Given the description of an element on the screen output the (x, y) to click on. 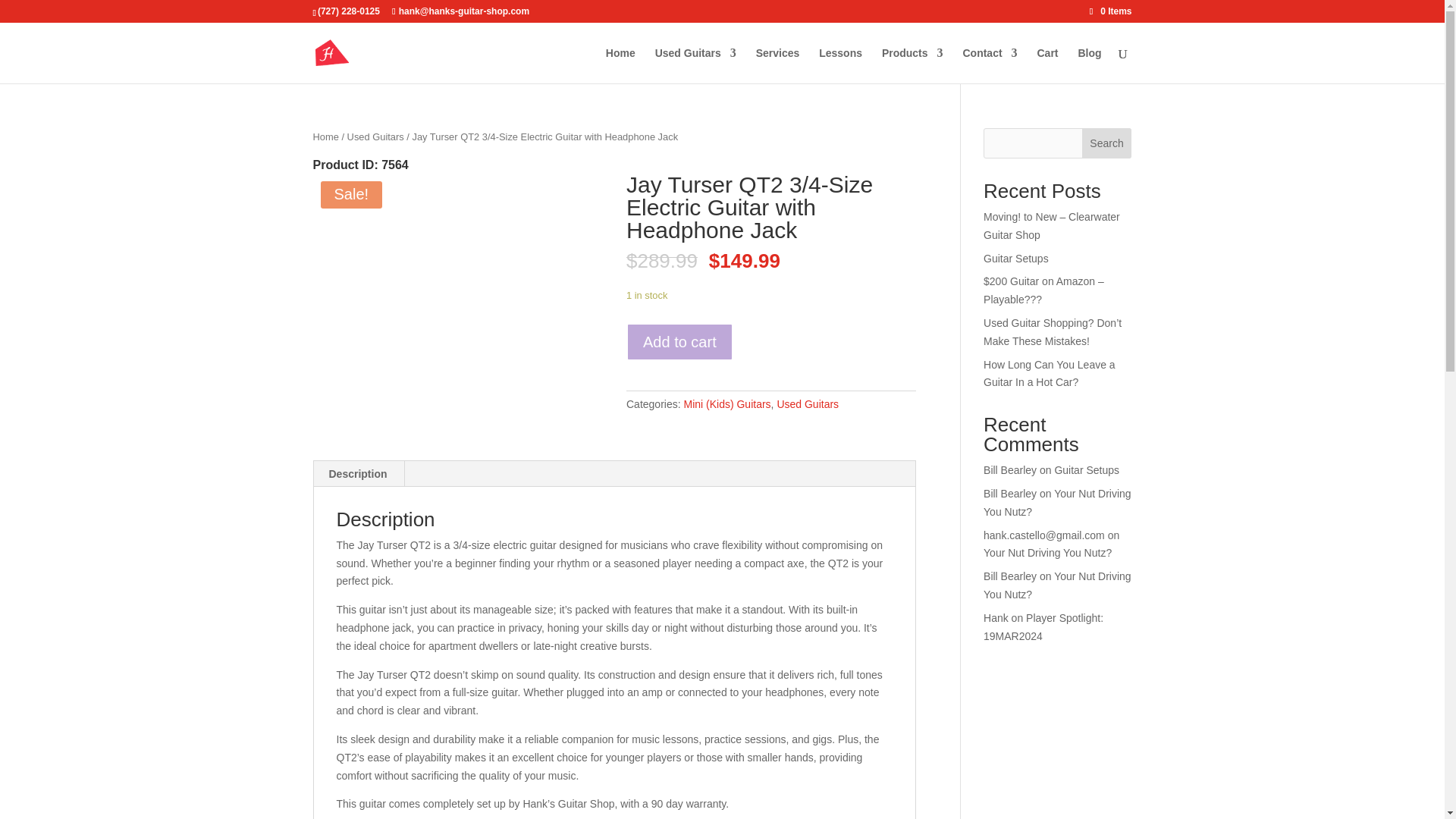
Products (912, 65)
Services (777, 65)
Used Guitars (695, 65)
Lessons (839, 65)
0 Items (1110, 10)
